Given the description of an element on the screen output the (x, y) to click on. 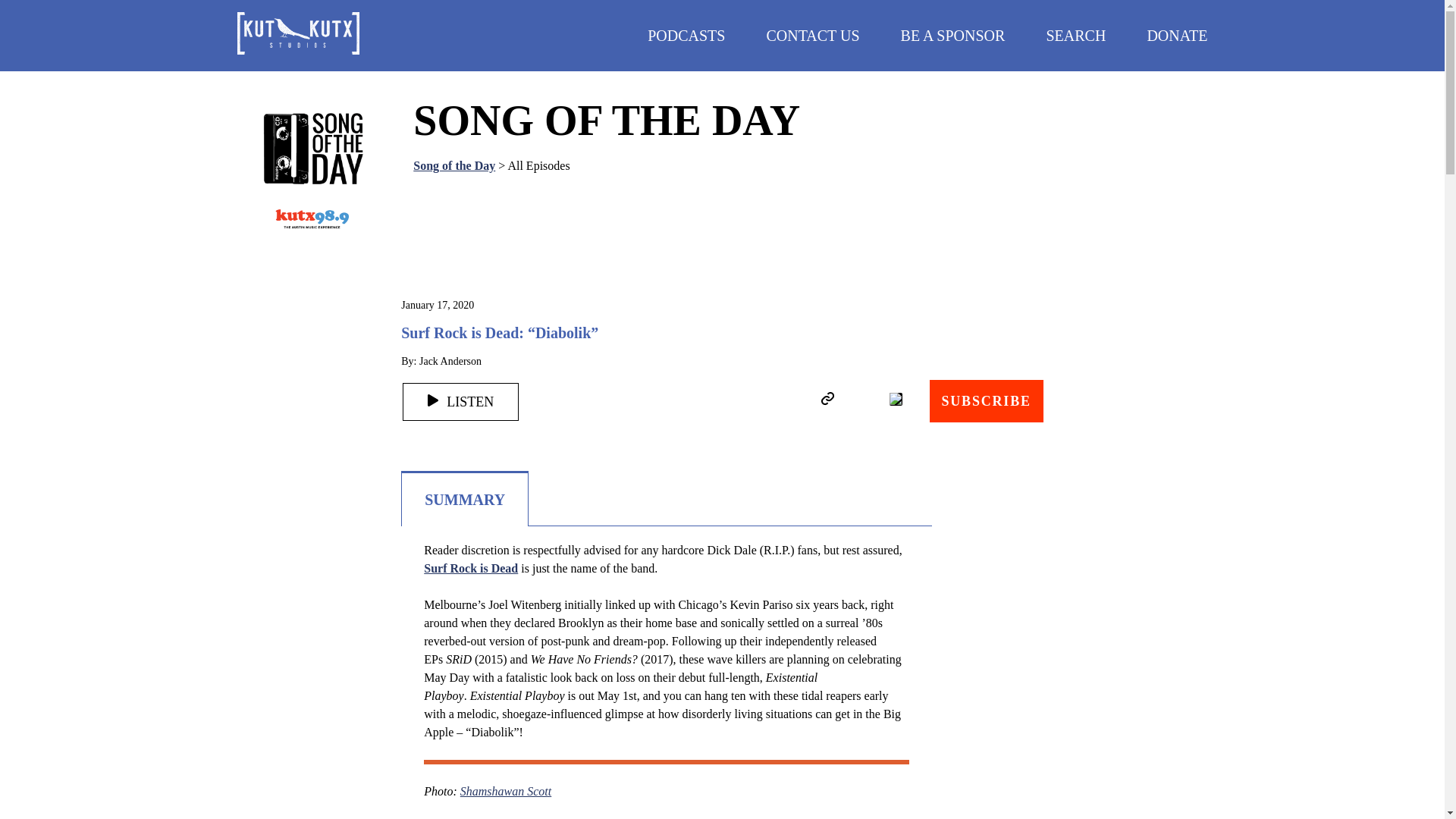
SEARCH (1075, 35)
Shamshawan Scott (505, 790)
CONTACT US (812, 35)
LISTEN (460, 401)
PODCASTS (686, 35)
DONATE (1177, 35)
BE A SPONSOR (953, 35)
share on X (894, 399)
Song of the Day (454, 164)
SUBSCRIBE (986, 401)
Surf Rock is Dead (470, 567)
